Given the description of an element on the screen output the (x, y) to click on. 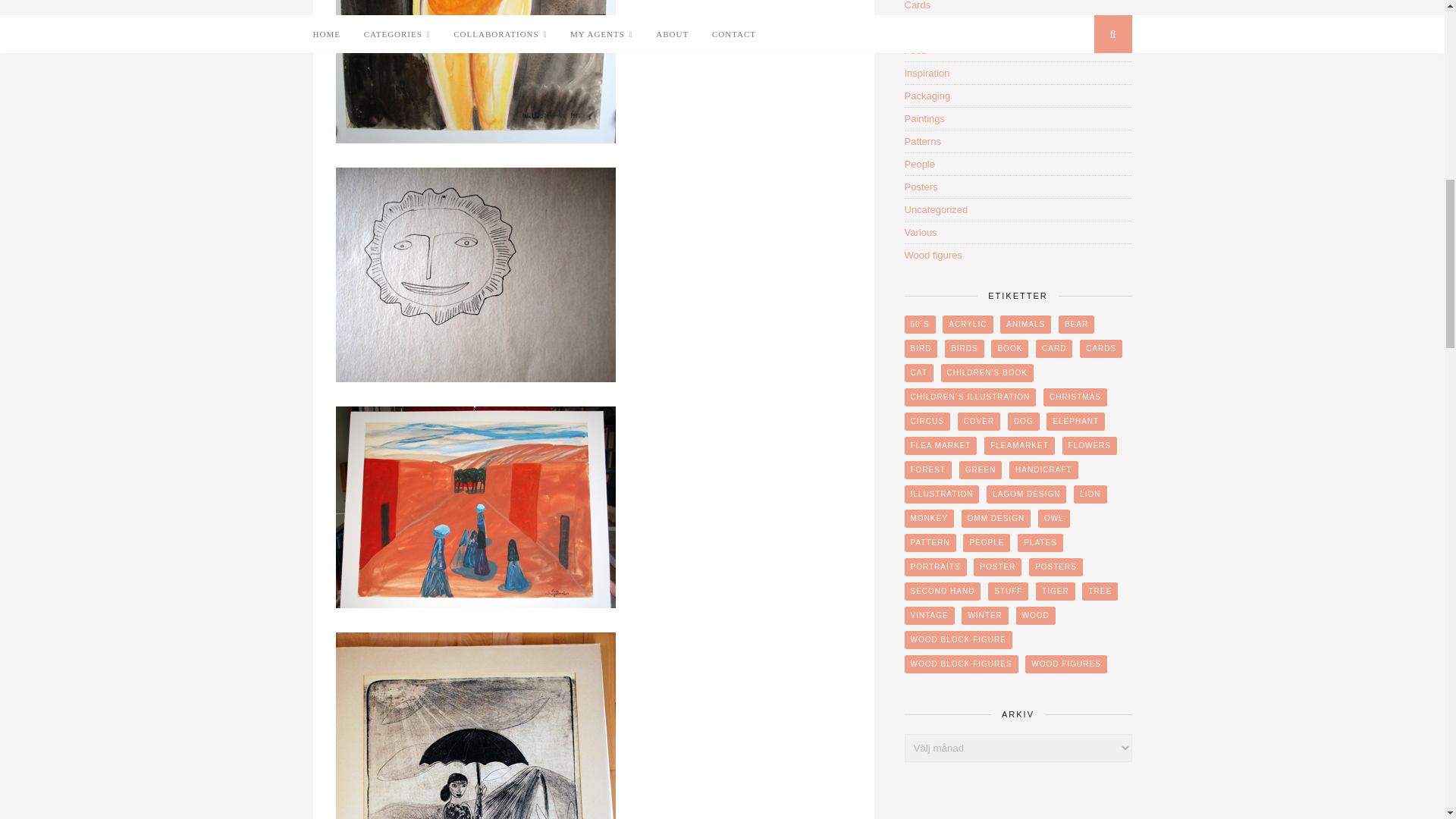
w4 (474, 507)
w3 (474, 274)
w5 (474, 725)
w2 (474, 71)
